Given the description of an element on the screen output the (x, y) to click on. 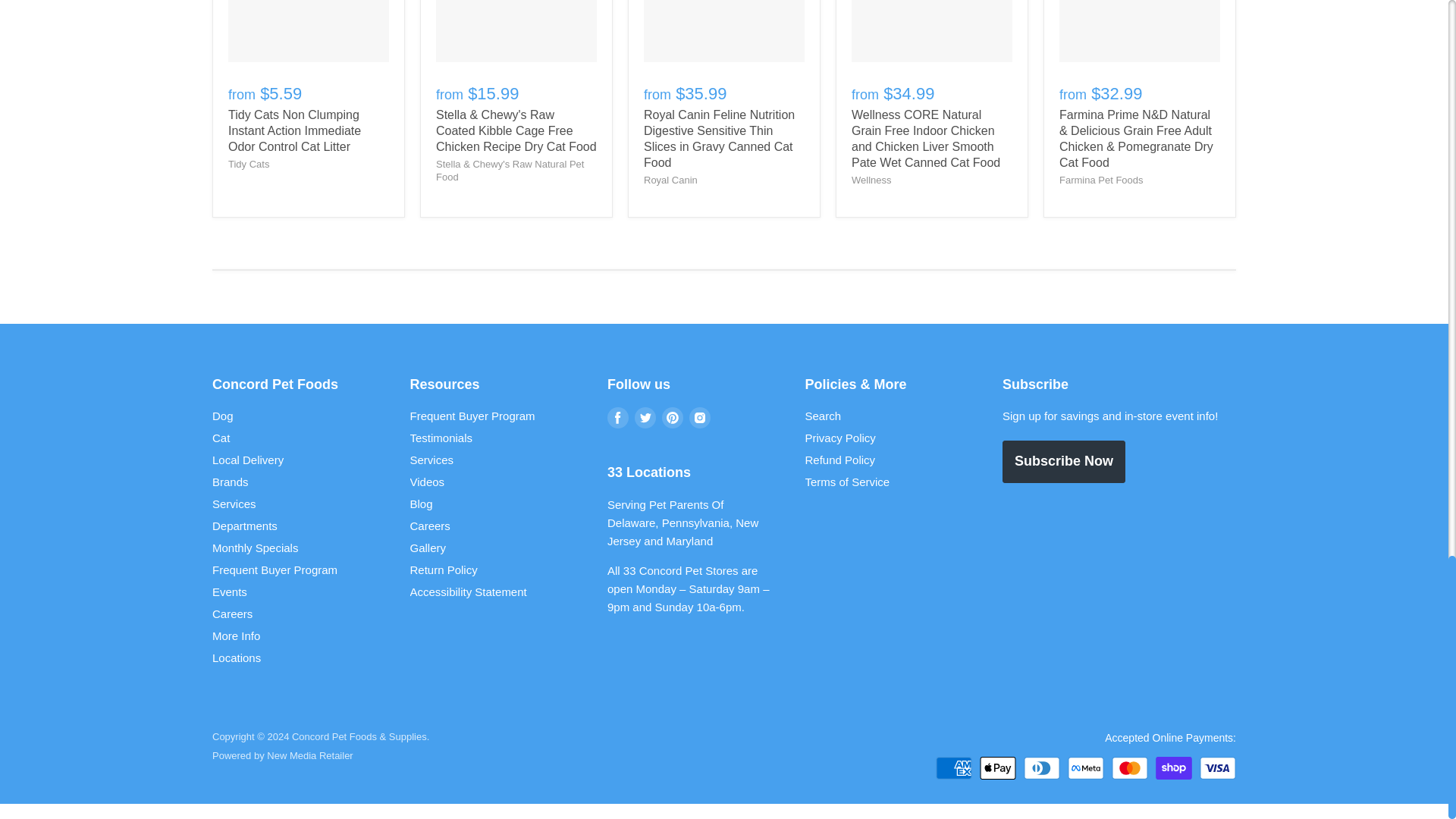
Facebook (617, 417)
Pinterest (672, 417)
Instagram (699, 417)
Twitter (645, 417)
